Given the description of an element on the screen output the (x, y) to click on. 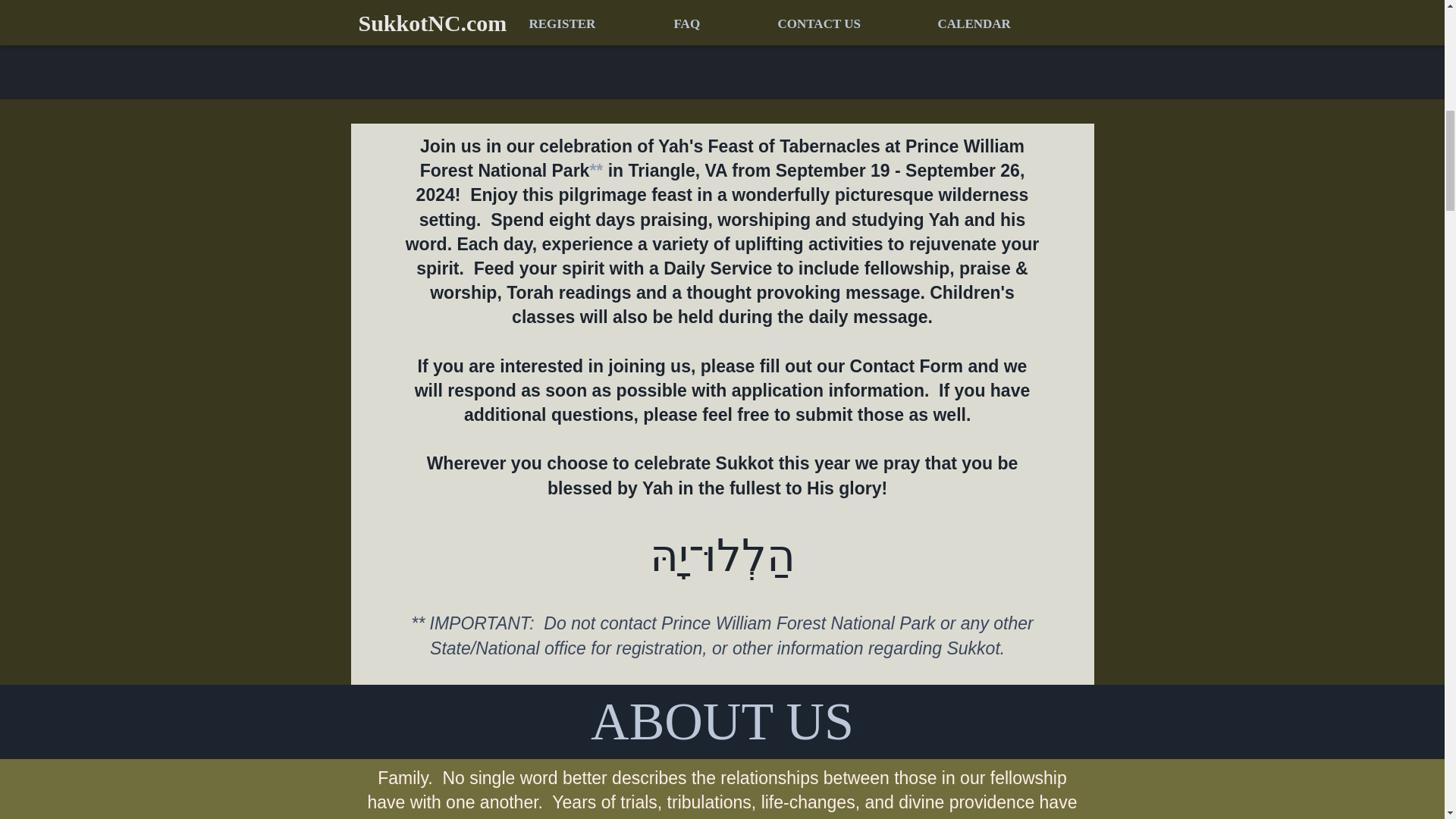
Prince William Forest National Park (722, 158)
Contact Form (906, 365)
